Given the description of an element on the screen output the (x, y) to click on. 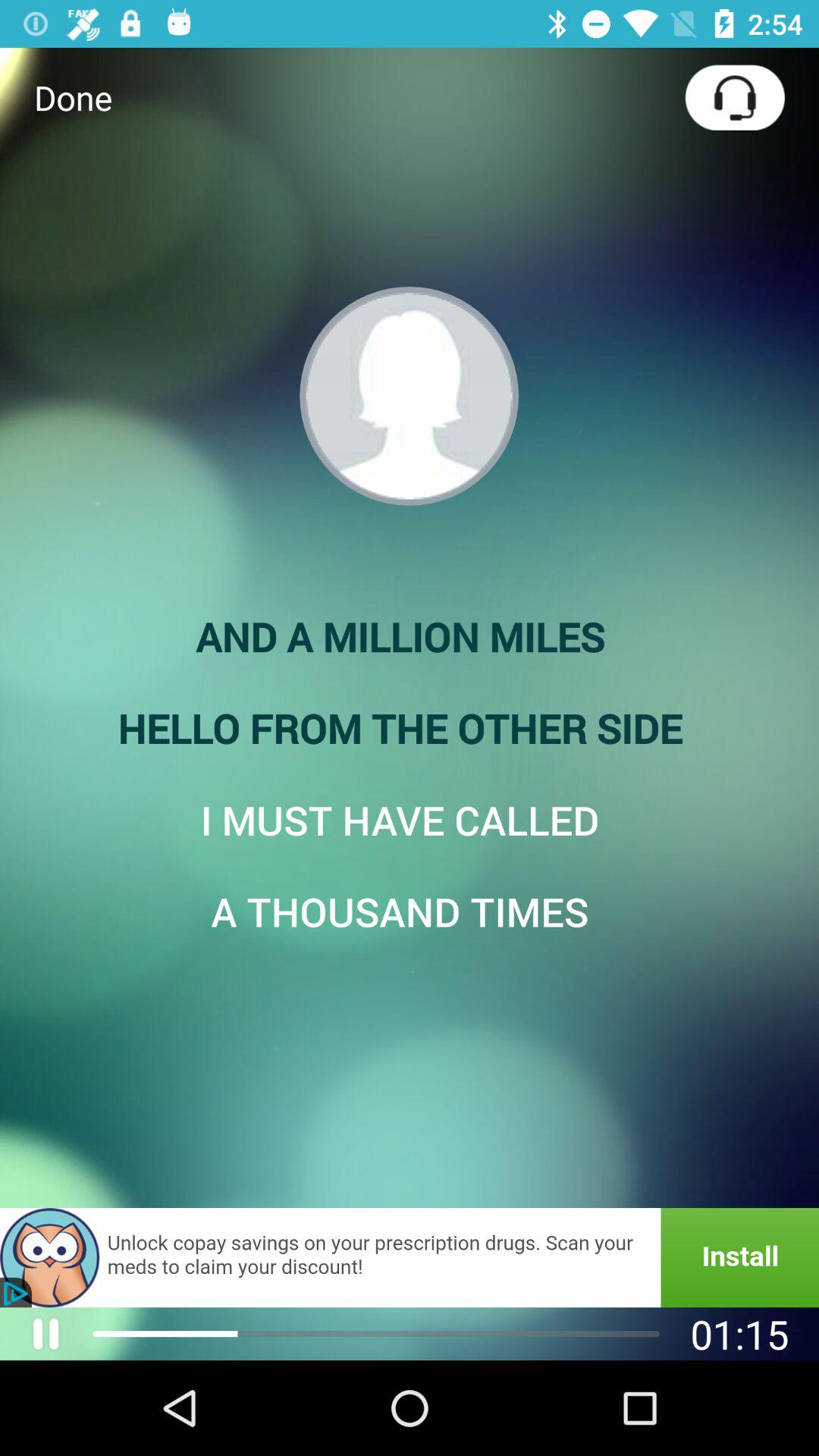
select icon next to done icon (734, 97)
